Given the description of an element on the screen output the (x, y) to click on. 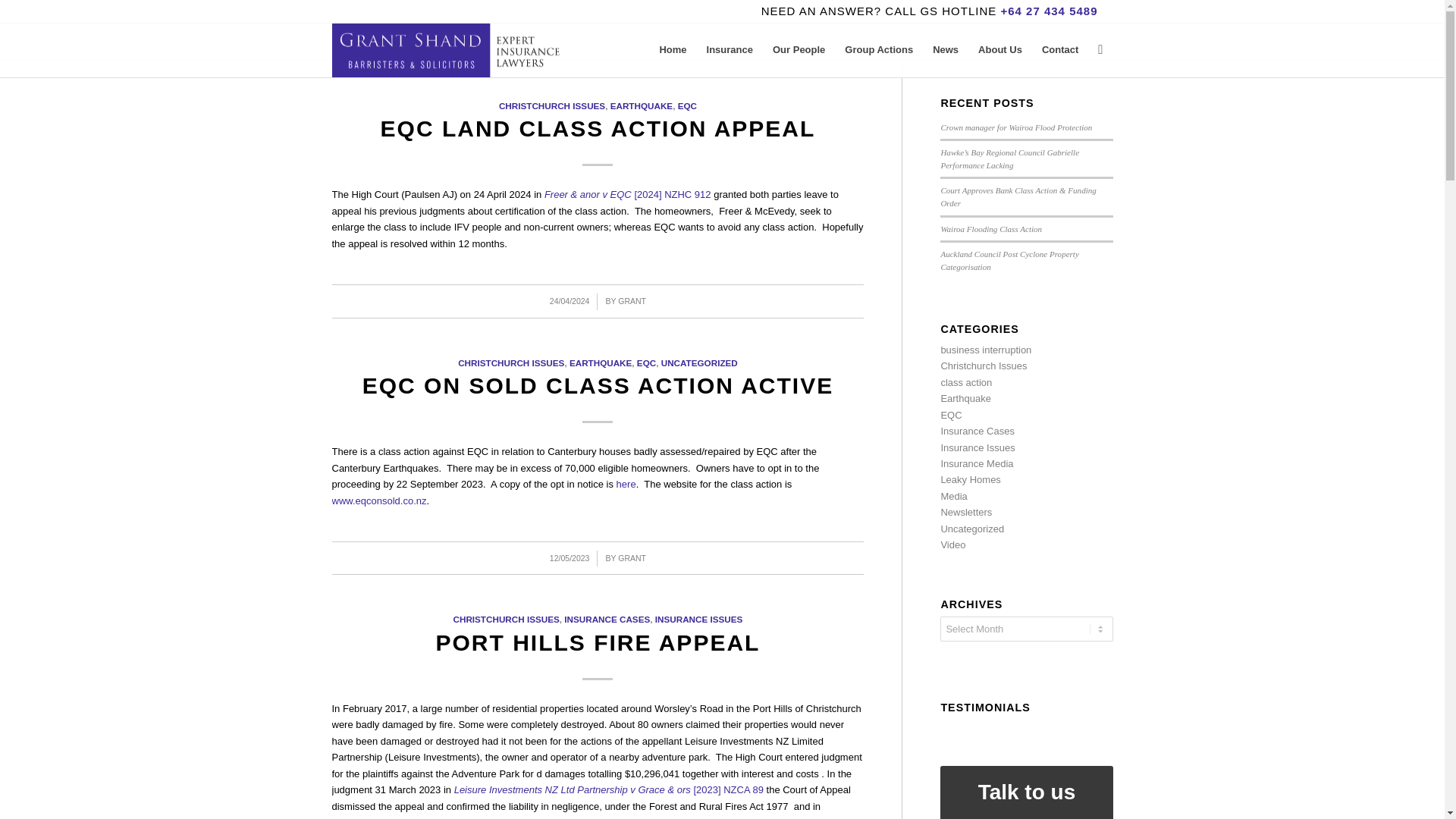
About Us (1000, 49)
Permanent Link: EQC Land Class Action Appeal (597, 128)
EQC (646, 362)
Insurance (729, 49)
Insurance Lawyers (729, 49)
Group Actions (878, 49)
CHRISTCHURCH ISSUES (505, 619)
About Grant Shand Lawyers (1000, 49)
CHRISTCHURCH ISSUES (552, 105)
EARTHQUAKE (600, 362)
